Given the description of an element on the screen output the (x, y) to click on. 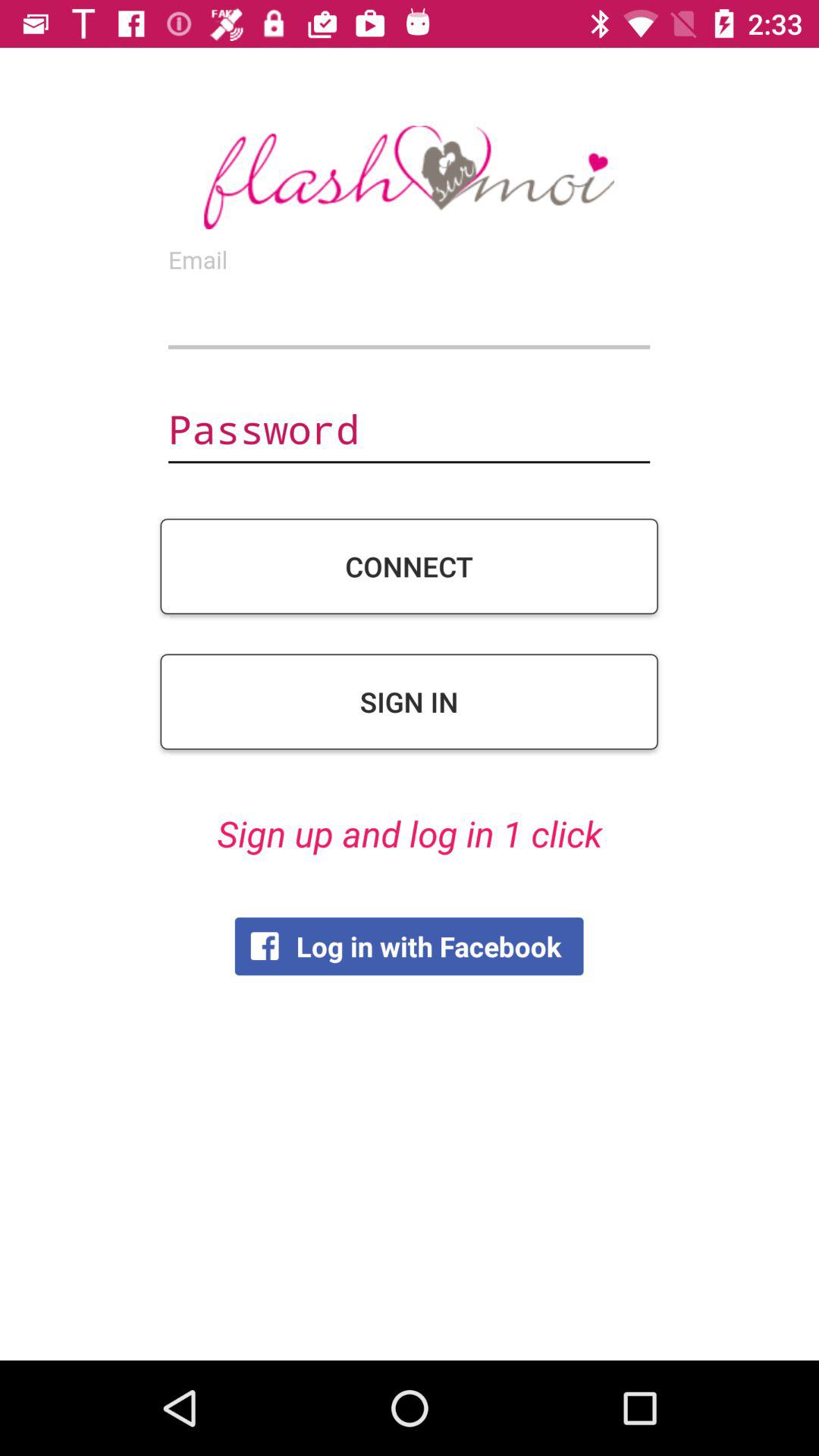
password button (409, 431)
